Given the description of an element on the screen output the (x, y) to click on. 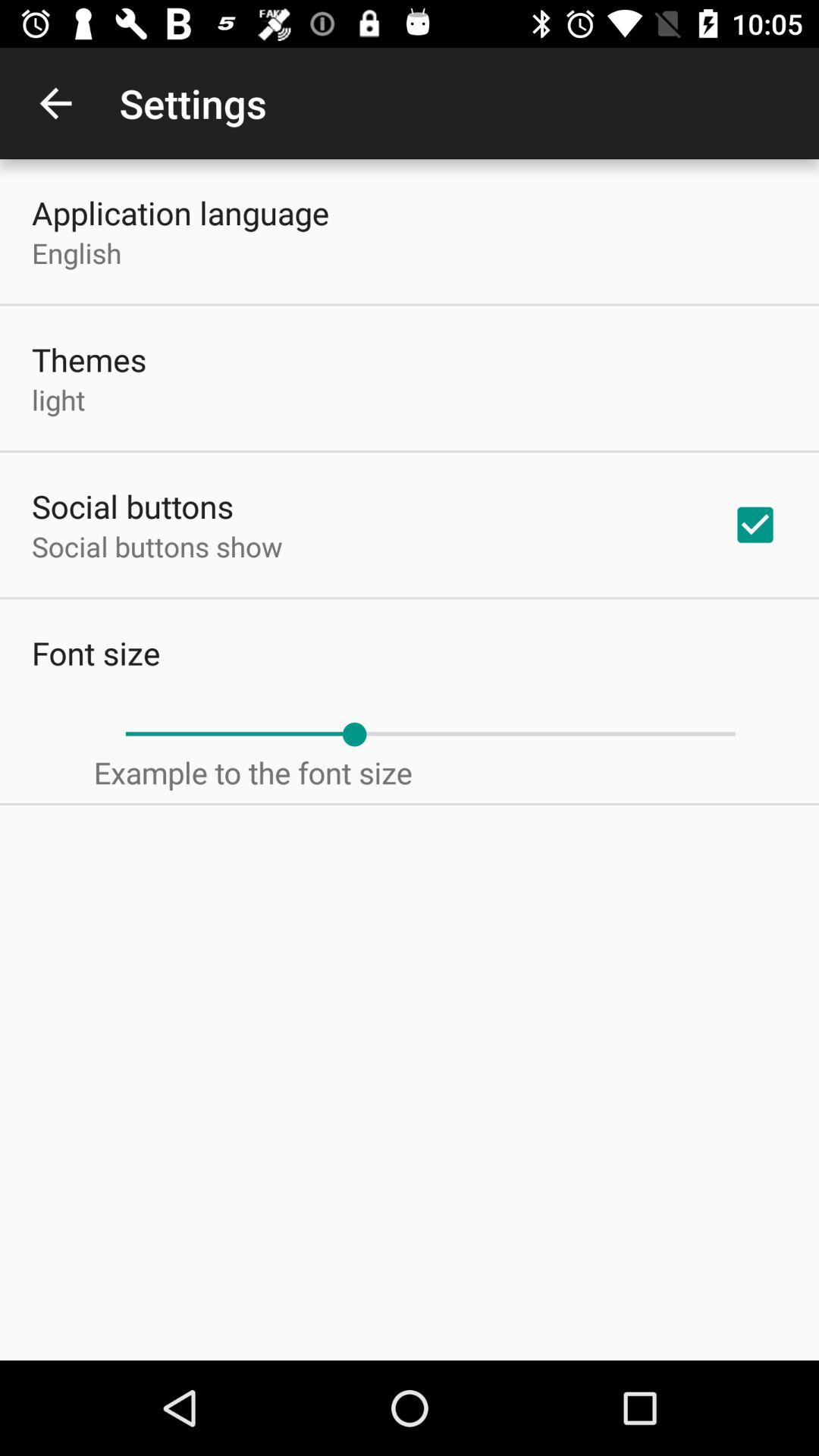
press the icon on the right (755, 524)
